Given the description of an element on the screen output the (x, y) to click on. 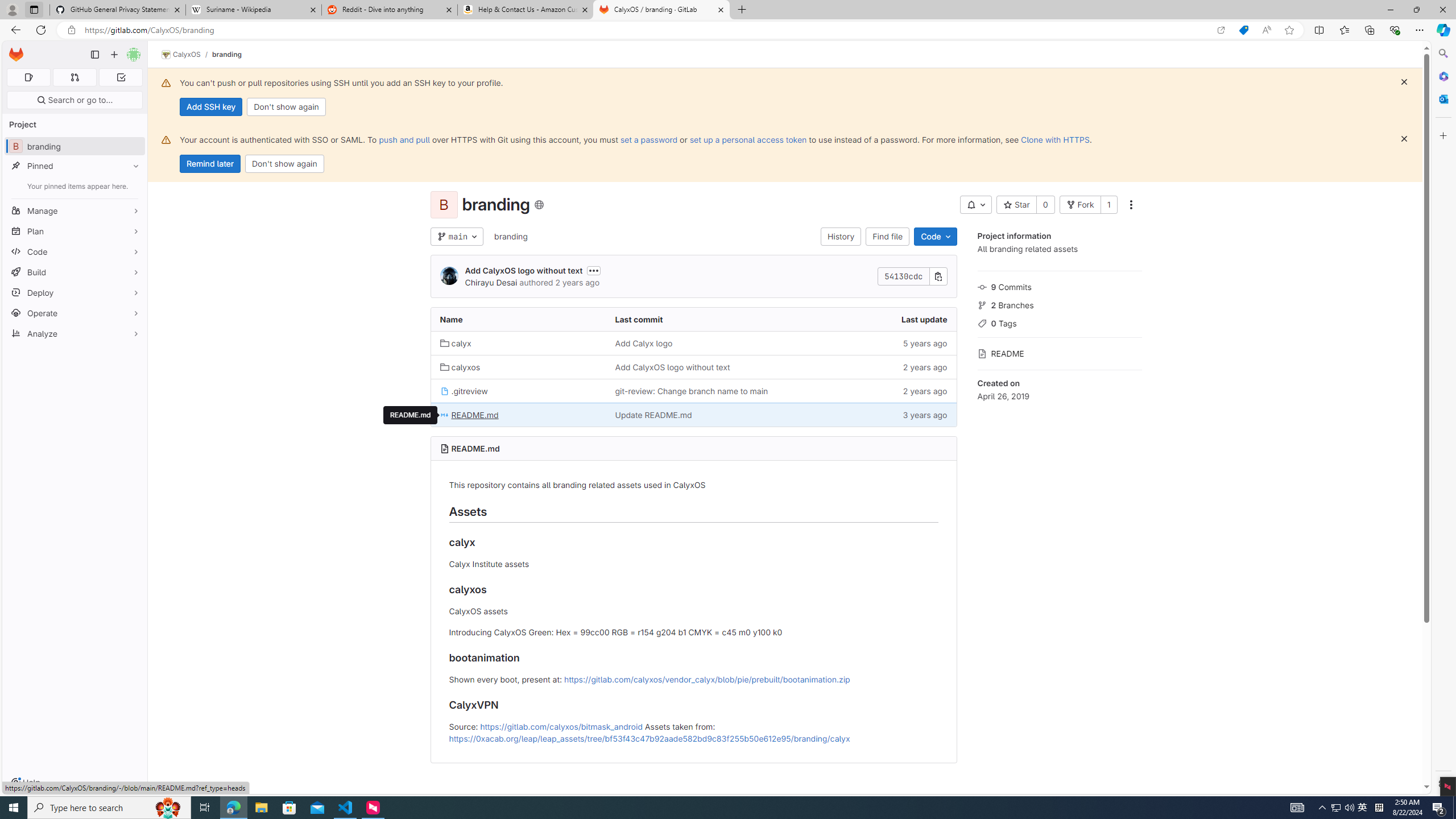
B branding (74, 145)
2 Branches (1058, 304)
Clone with HTTPS (1054, 139)
README.md (475, 447)
Create new... (113, 54)
More actions (1130, 204)
set a password (649, 139)
Add CalyxOS logo without text (672, 367)
calyx (455, 342)
9 Commits (1058, 286)
Plan (74, 230)
Add CalyxOS logo without text (693, 366)
Operate (74, 312)
